Given the description of an element on the screen output the (x, y) to click on. 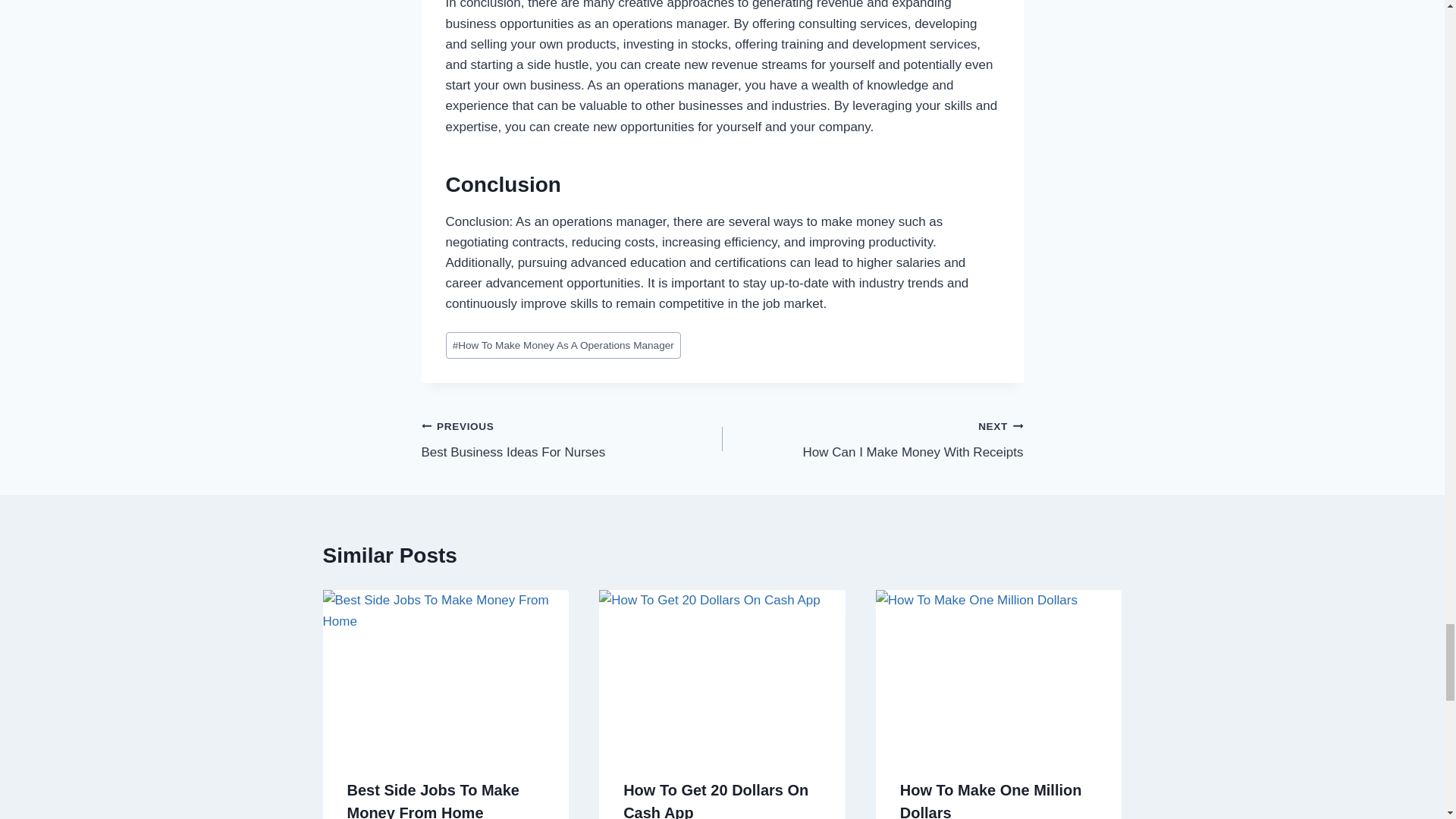
How To Get 20 Dollars On Cash App 5 (872, 439)
Best Side Jobs To Make Money From Home 3 (721, 671)
Best Side Jobs To Make Money From Home (446, 671)
How To Make Money As A Operations Manager (433, 800)
How To Make One Million Dollars 7 (563, 345)
